Given the description of an element on the screen output the (x, y) to click on. 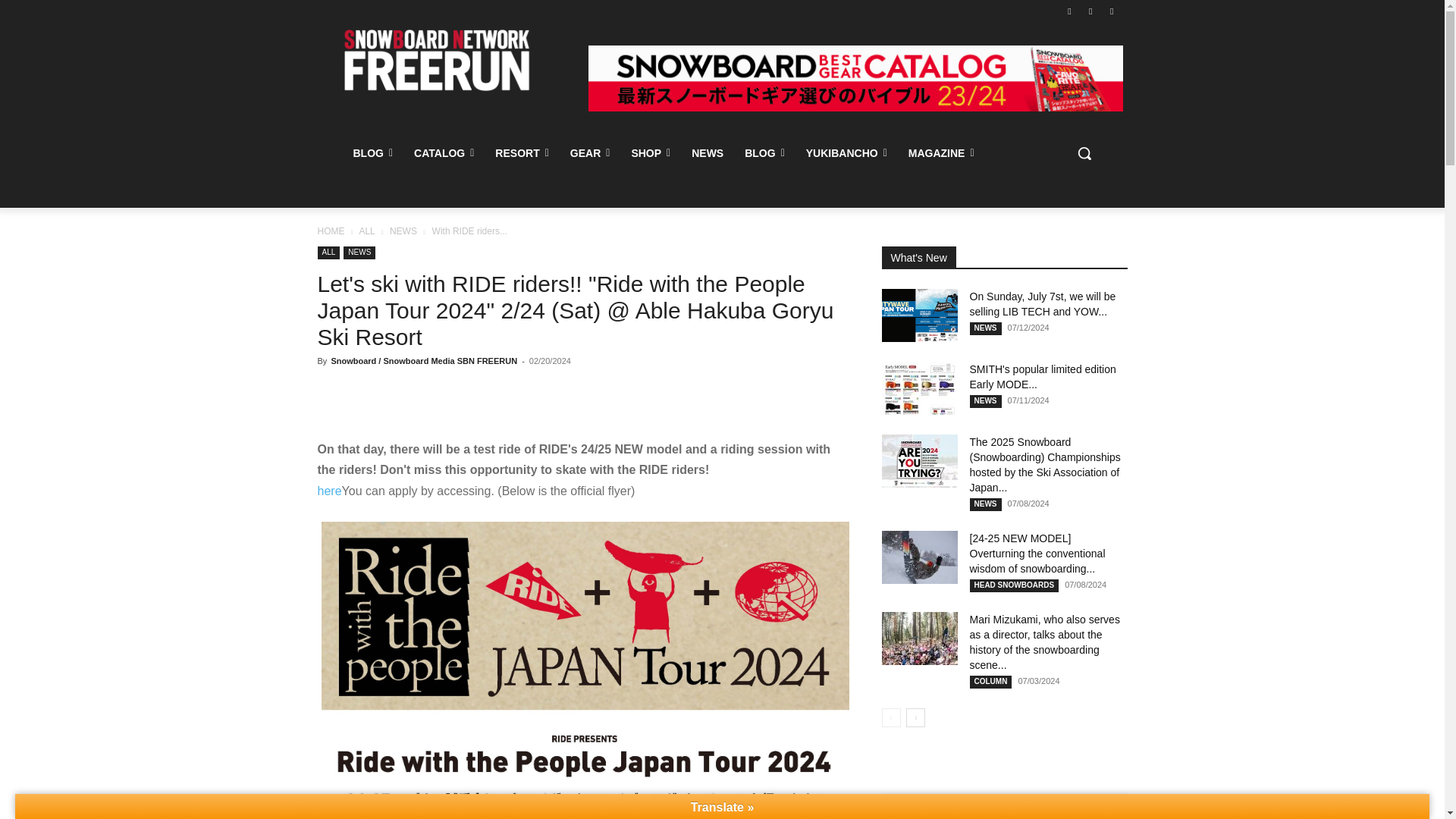
Instagram (1090, 9)
Twitter (1112, 9)
Facebook (1069, 9)
